Given the description of an element on the screen output the (x, y) to click on. 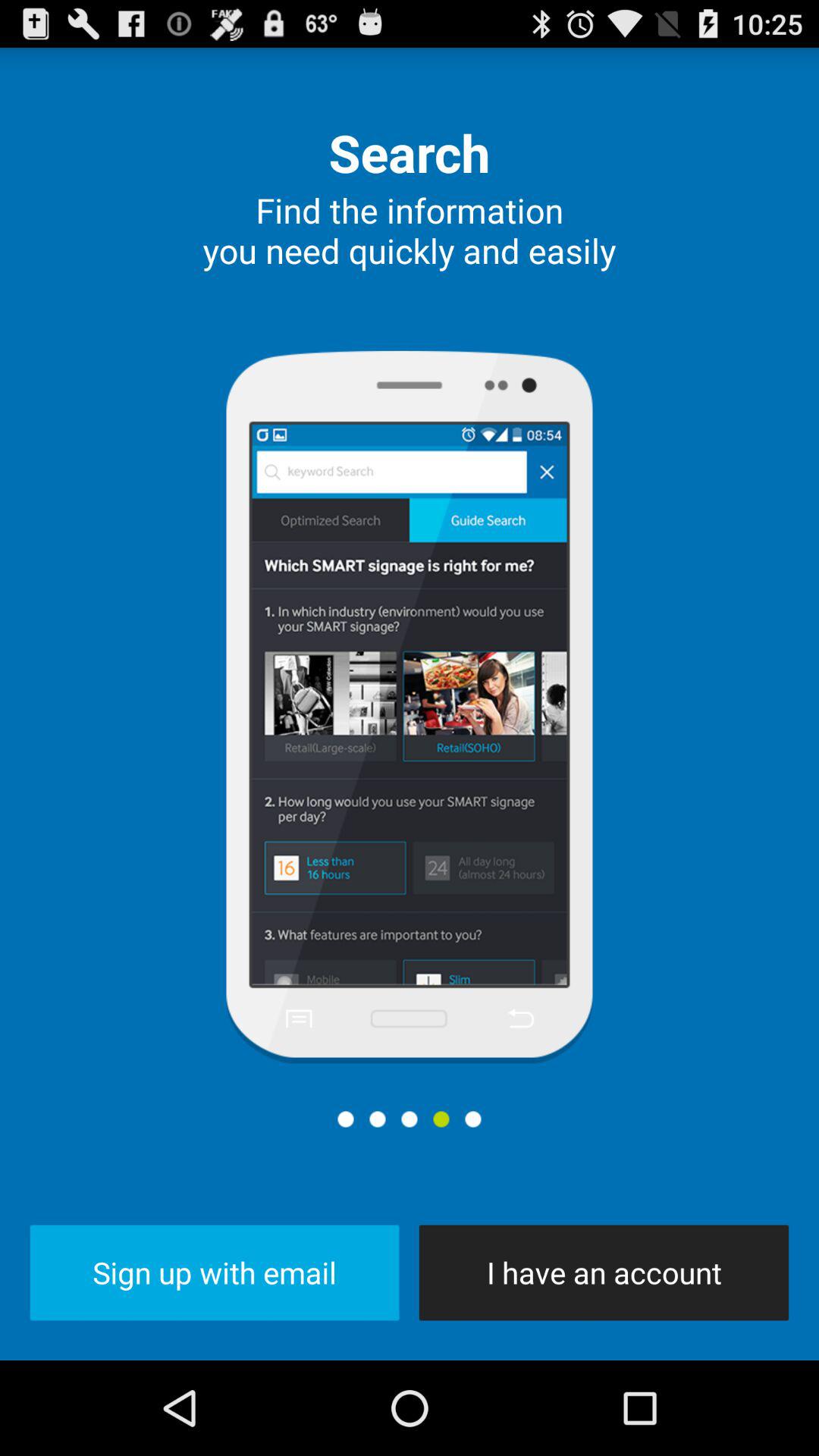
click icon next to sign up with icon (603, 1272)
